Given the description of an element on the screen output the (x, y) to click on. 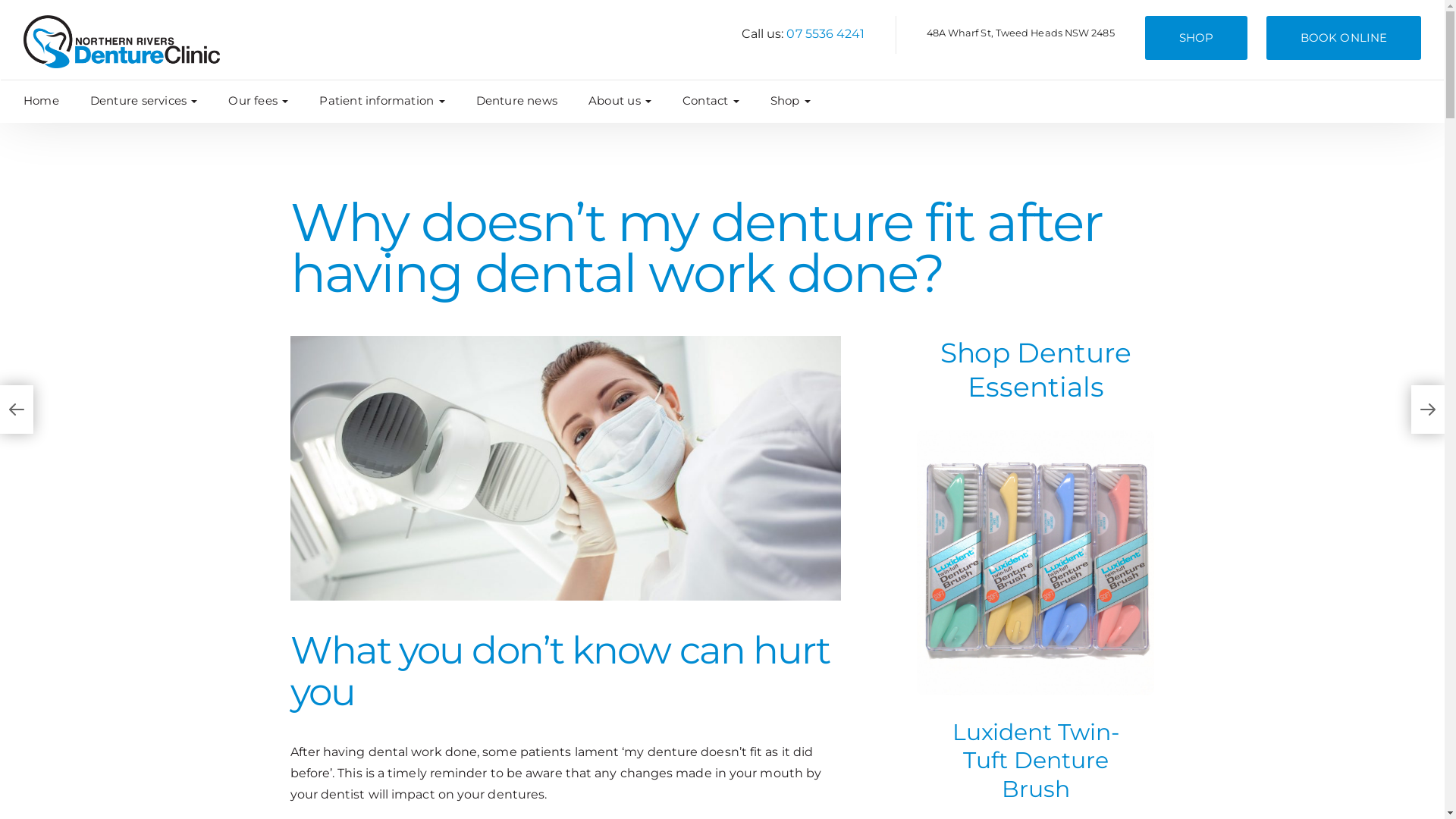
Home Element type: text (45, 101)
SHOP Element type: text (1196, 37)
About us Element type: text (624, 101)
BOOK ONLINE Element type: text (1343, 37)
Shop Element type: text (794, 101)
07 5536 4241 Element type: text (825, 33)
Denture news Element type: text (520, 101)
Contact Element type: text (715, 101)
Denture services Element type: text (147, 101)
Luxident Twin-Tuft Denture Brush Element type: text (1035, 760)
Our fees Element type: text (261, 101)
Patient information Element type: text (385, 101)
Shop Denture Essentials Element type: text (1036, 369)
